Given the description of an element on the screen output the (x, y) to click on. 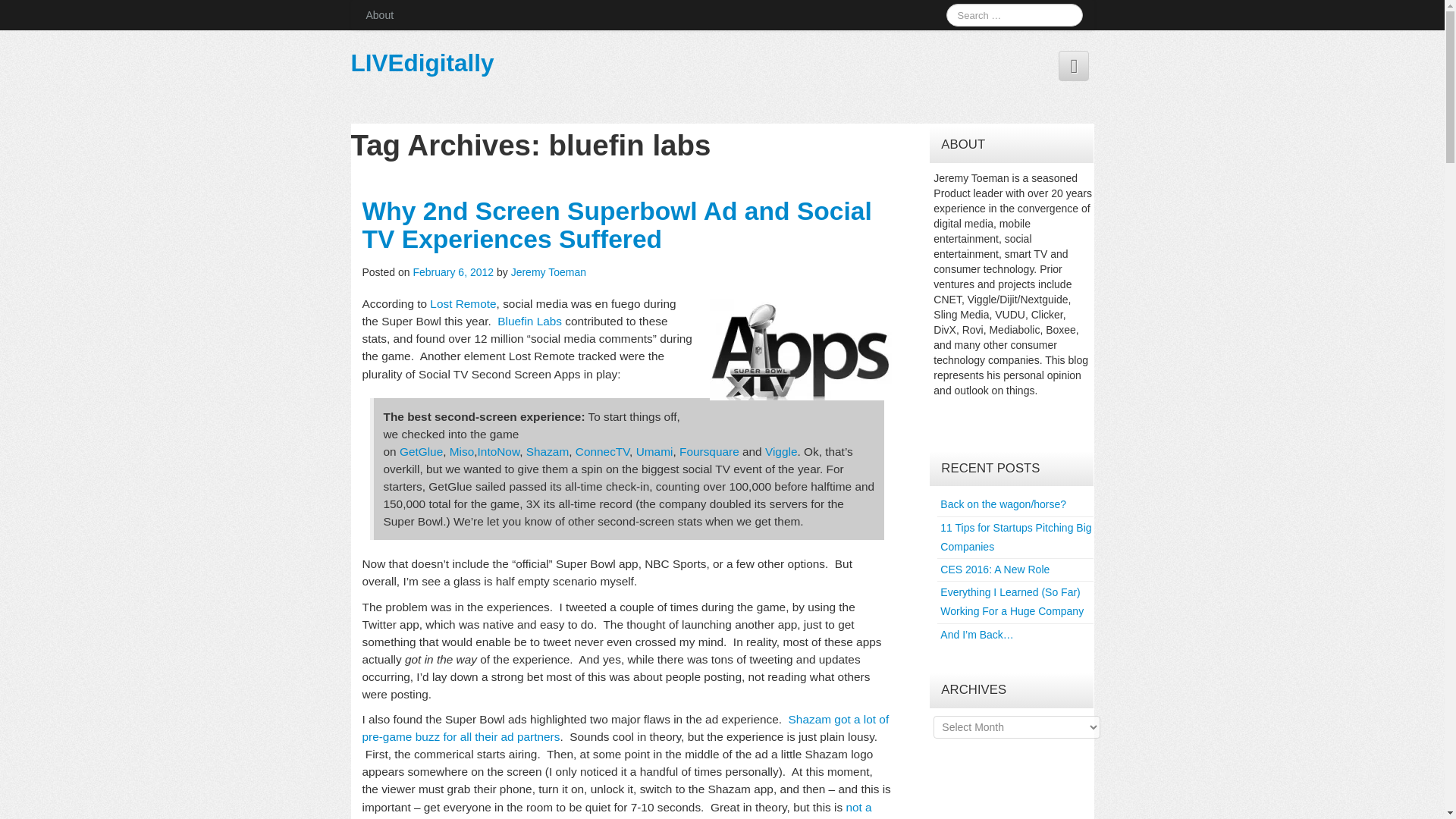
Umami (654, 451)
ConnecTV (601, 451)
LIVEdigitally (421, 62)
Miso (461, 451)
Shazam (547, 451)
About (379, 15)
not a good experience for any user (617, 809)
Jeremy Toeman (548, 272)
Foursquare (709, 451)
